Given the description of an element on the screen output the (x, y) to click on. 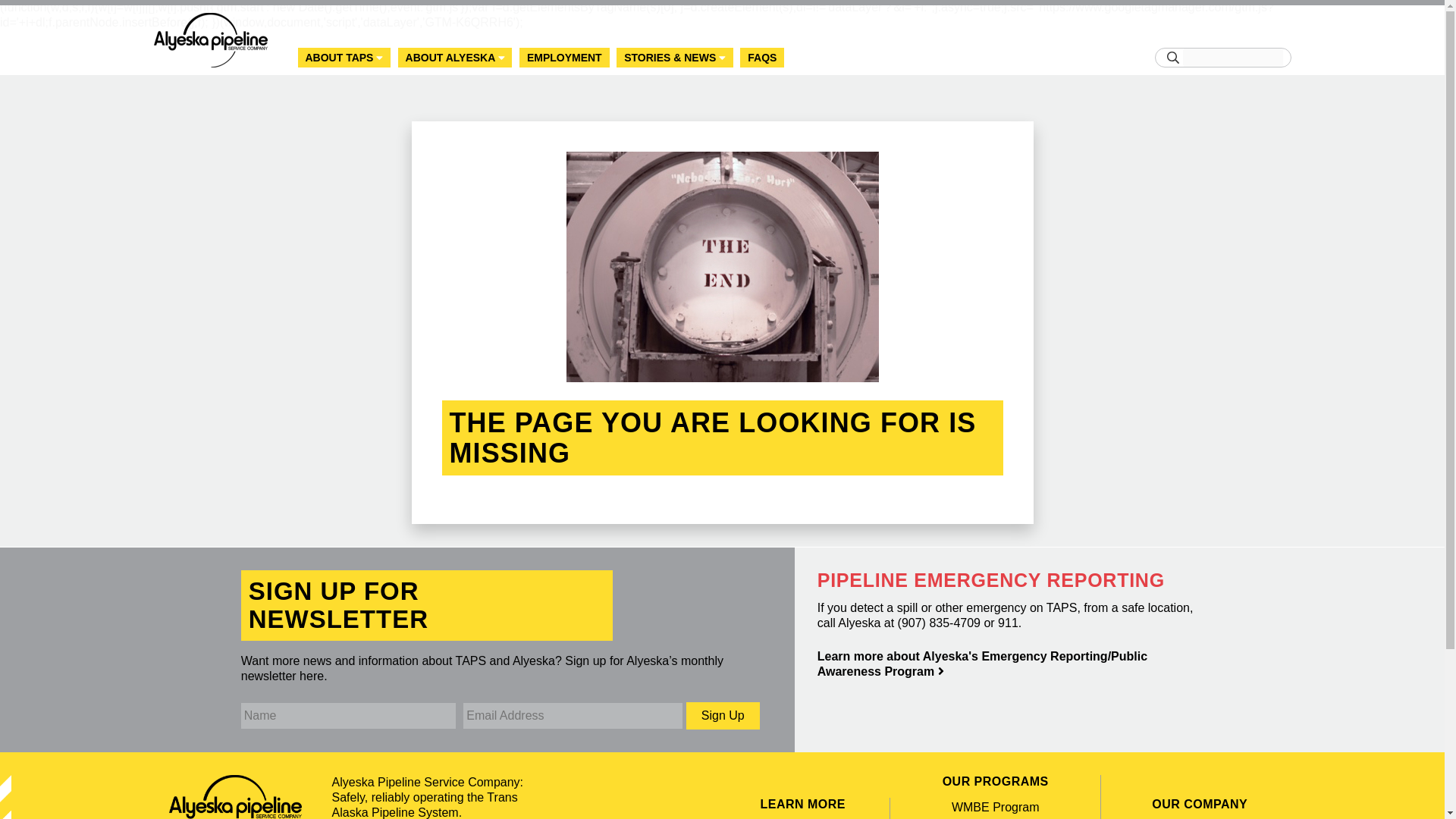
EMPLOYMENT (564, 57)
FAQS (762, 57)
Sign Up (722, 715)
Search for: (1232, 57)
